Given the description of an element on the screen output the (x, y) to click on. 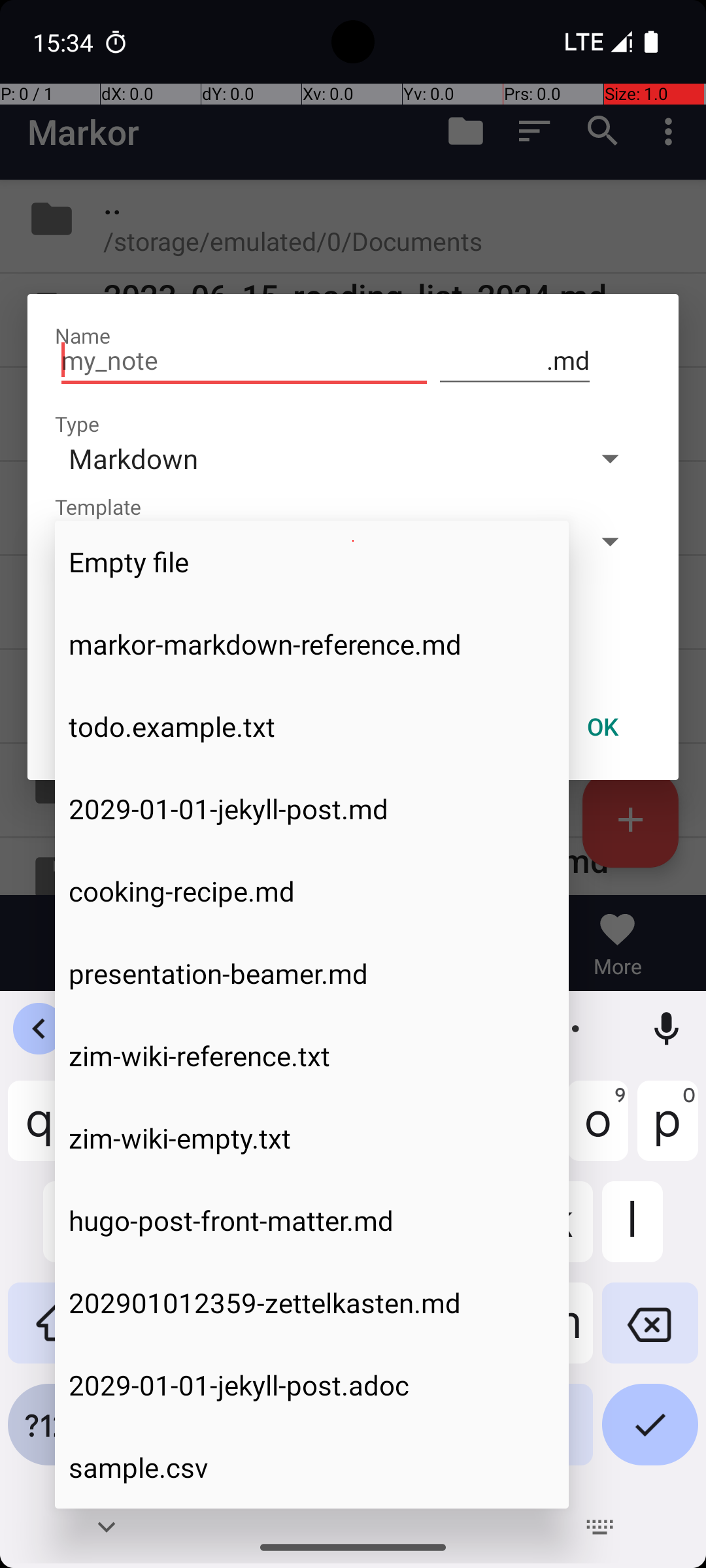
markor-markdown-reference.md Element type: android.widget.CheckedTextView (311, 644)
todo.example.txt Element type: android.widget.CheckedTextView (311, 726)
2029-01-01-jekyll-post.md Element type: android.widget.CheckedTextView (311, 808)
cooking-recipe.md Element type: android.widget.CheckedTextView (311, 890)
presentation-beamer.md Element type: android.widget.CheckedTextView (311, 973)
zim-wiki-reference.txt Element type: android.widget.CheckedTextView (311, 1055)
zim-wiki-empty.txt Element type: android.widget.CheckedTextView (311, 1137)
hugo-post-front-matter.md Element type: android.widget.CheckedTextView (311, 1220)
202901012359-zettelkasten.md Element type: android.widget.CheckedTextView (311, 1302)
2029-01-01-jekyll-post.adoc Element type: android.widget.CheckedTextView (311, 1384)
sample.csv Element type: android.widget.CheckedTextView (311, 1467)
